Given the description of an element on the screen output the (x, y) to click on. 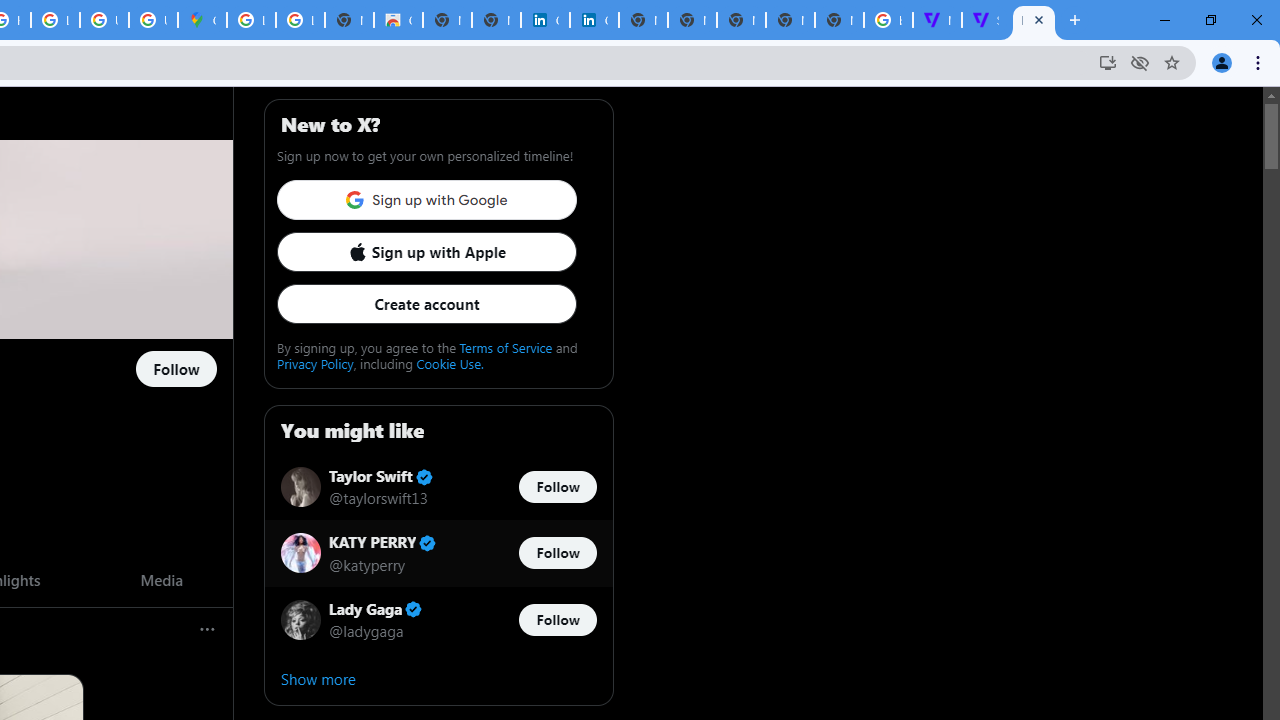
Cookie Policy | LinkedIn (594, 20)
Create account (426, 303)
Show more (438, 678)
Lady Gaga Verified account (375, 609)
@katyperry (366, 564)
Follow @ladygaga (557, 619)
Streaming - The Verge (985, 20)
